Given the description of an element on the screen output the (x, y) to click on. 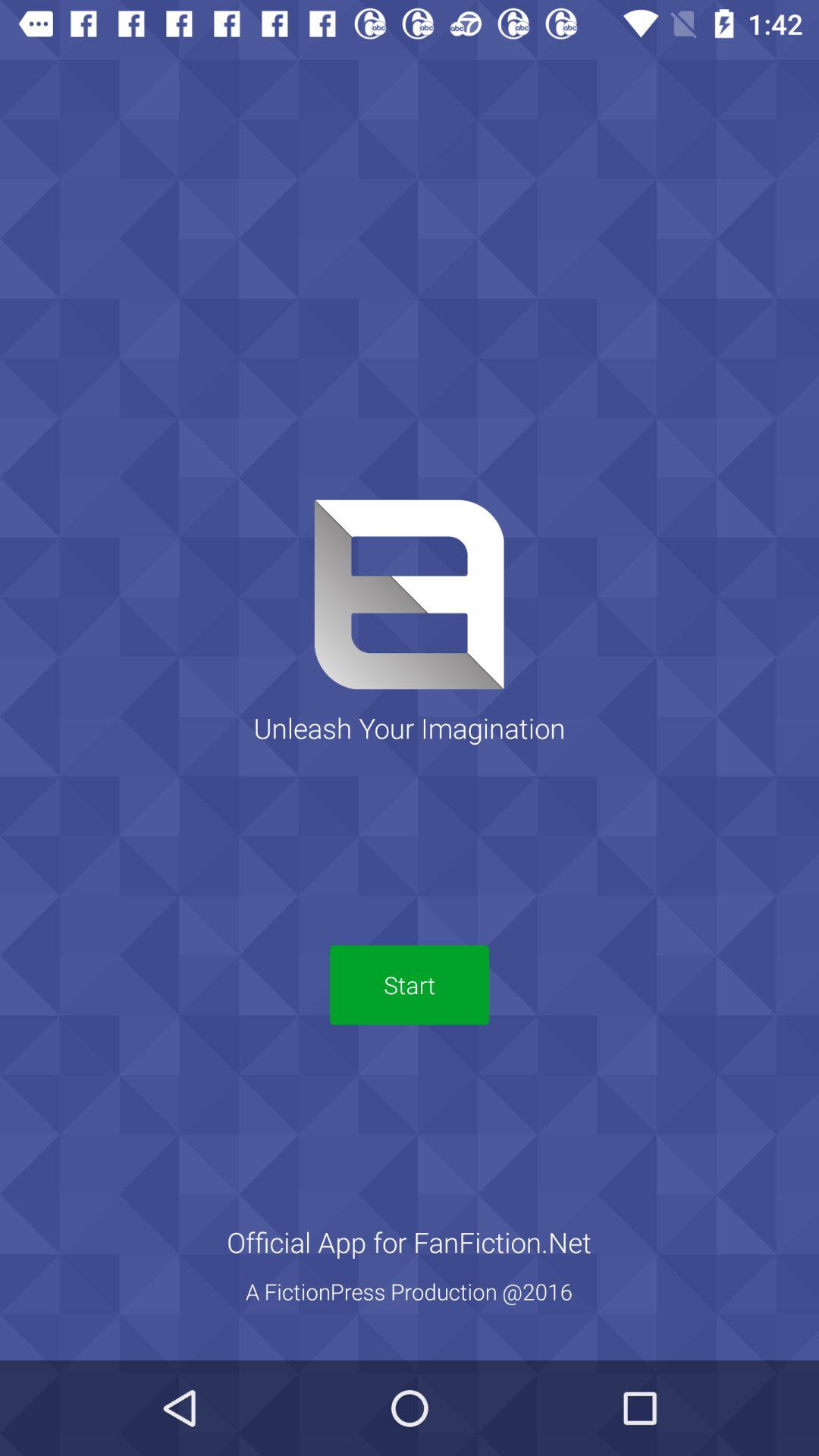
tap the item above the official app for (409, 984)
